Given the description of an element on the screen output the (x, y) to click on. 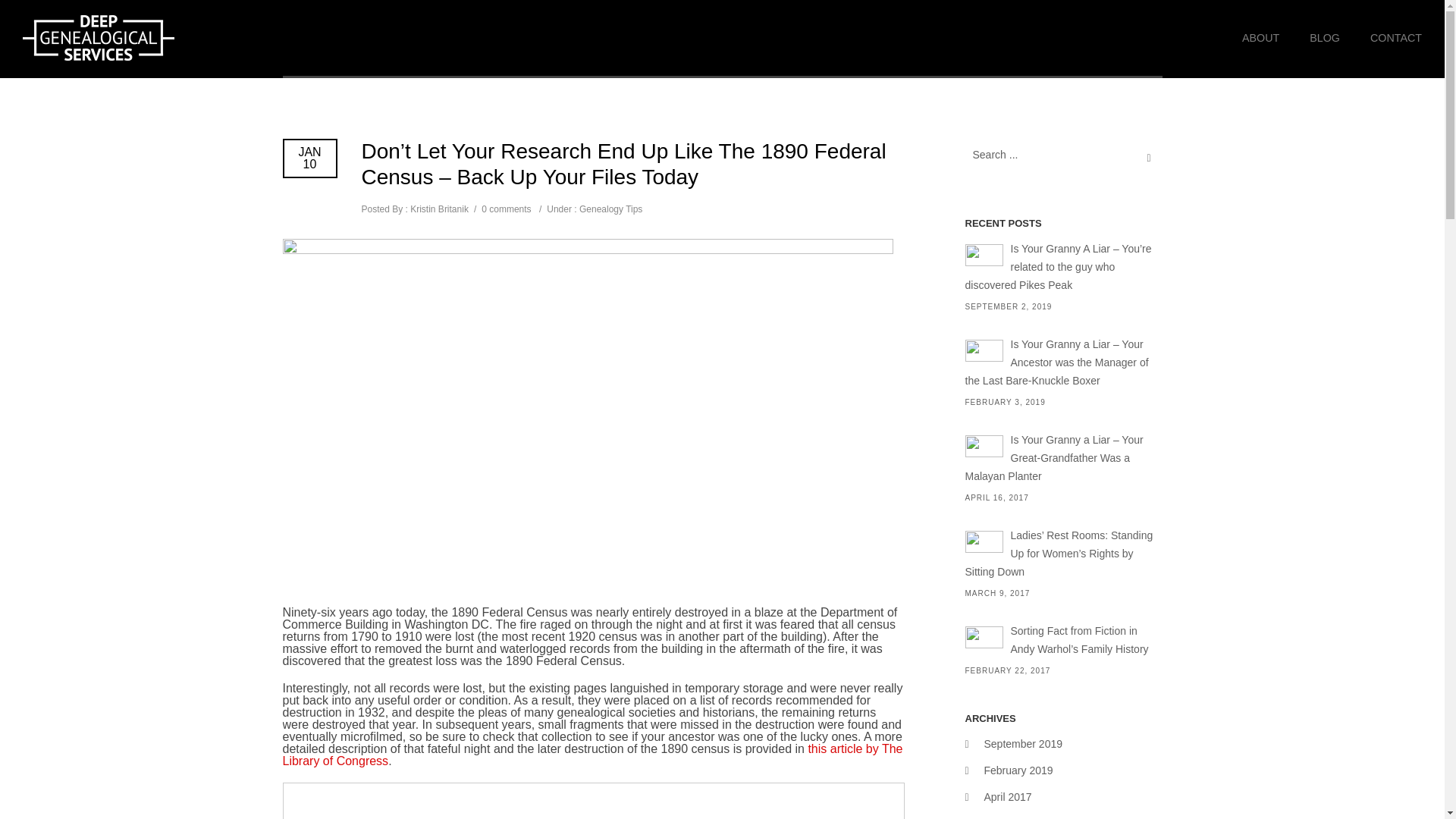
CONTACT (1388, 37)
BLOG (1324, 37)
this article by The Library of Congress (592, 754)
0 comments (506, 208)
ABOUT (1260, 37)
Genealogy Tips (609, 208)
View all posts in Genealogy Tips (609, 208)
